Given the description of an element on the screen output the (x, y) to click on. 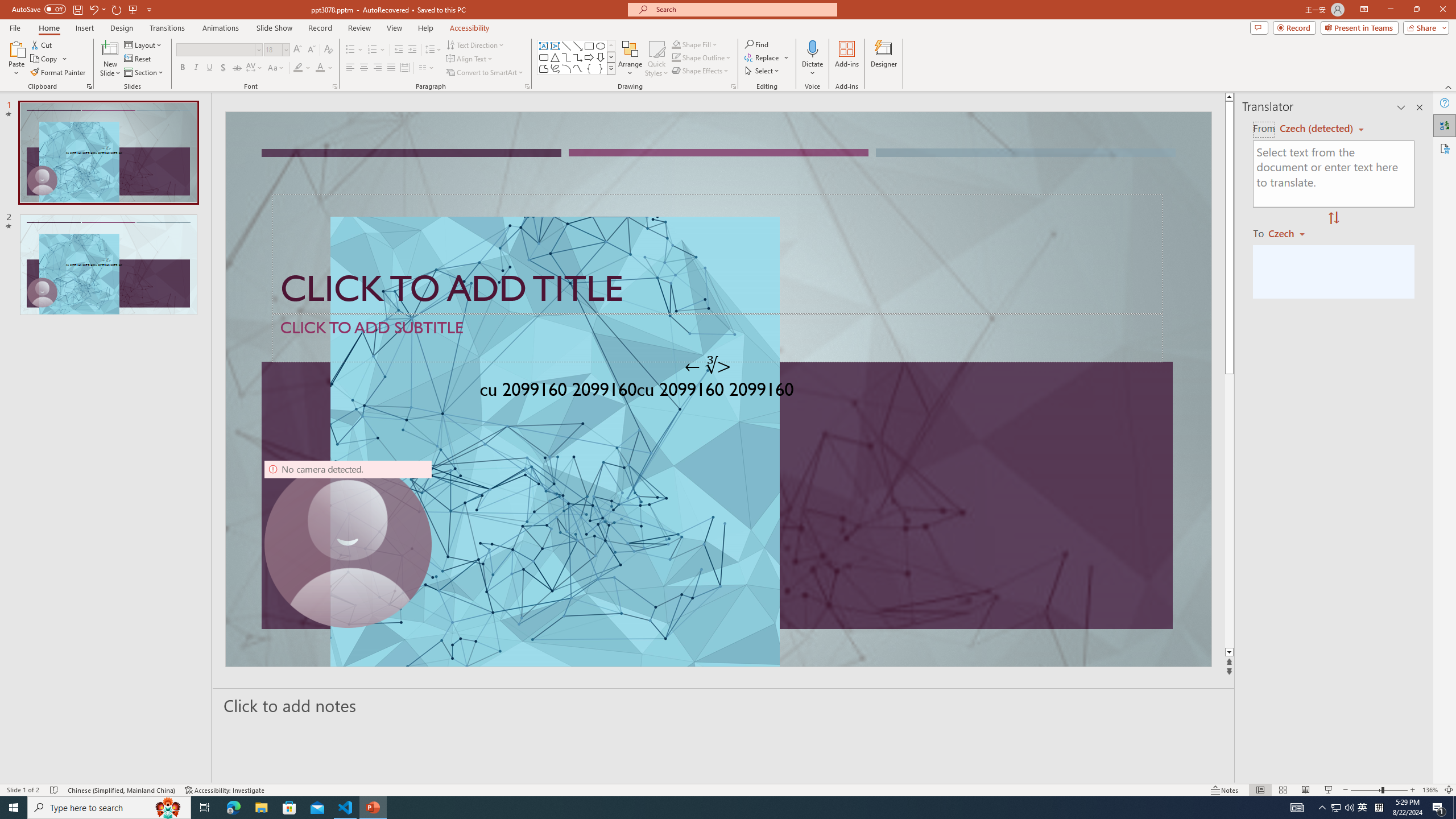
Translator (1444, 125)
Justify (390, 67)
TextBox 7 (707, 366)
Open (285, 49)
Connector: Elbow (566, 57)
Dictate (812, 48)
Section (144, 72)
Row Down (611, 56)
Freeform: Shape (543, 68)
Align Left (349, 67)
Increase Indent (412, 49)
